Given the description of an element on the screen output the (x, y) to click on. 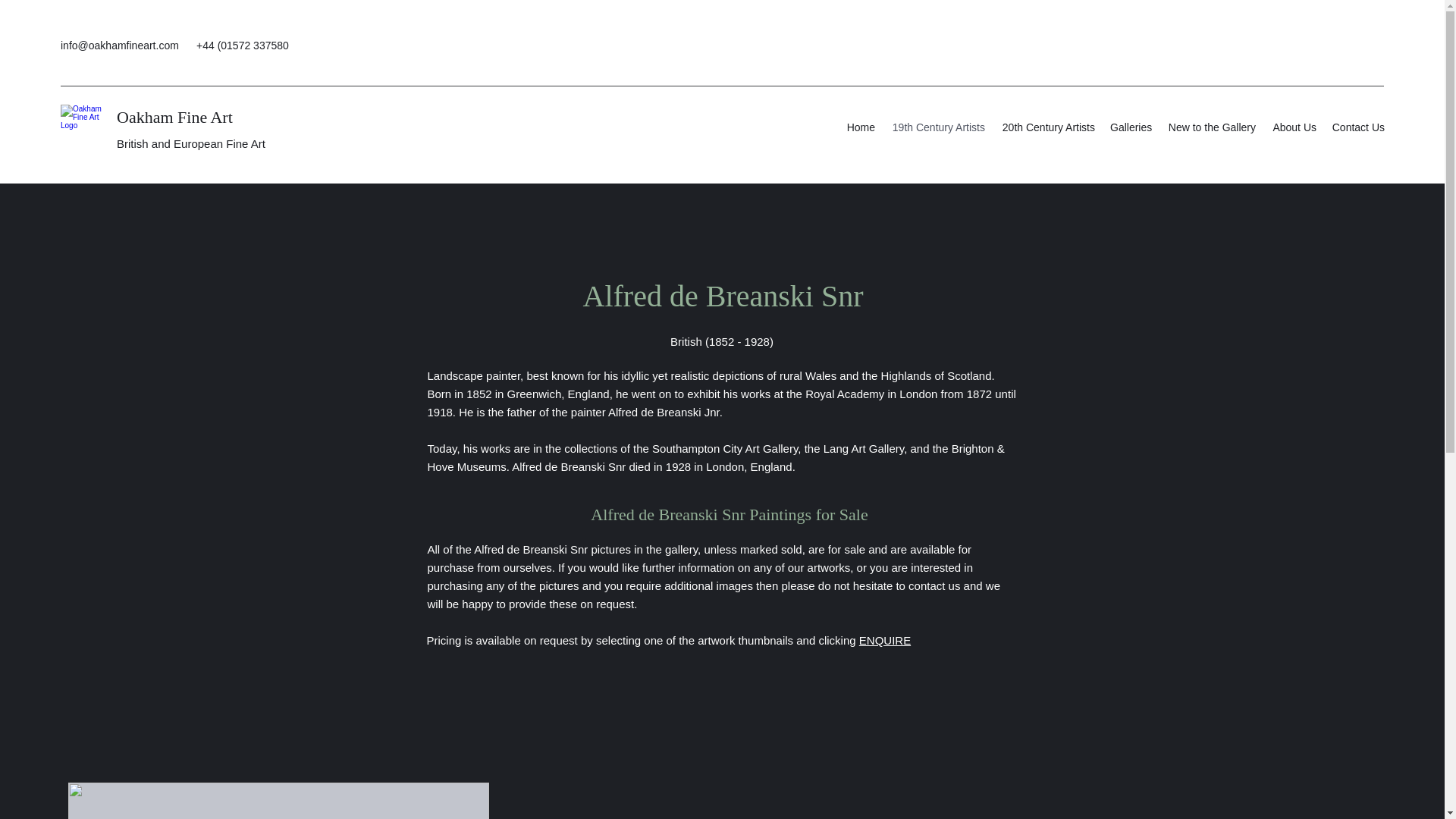
New to the Gallery (1210, 127)
19th Century Artists (937, 127)
Oakham Fine Art (174, 116)
20th Century Artists (1047, 127)
Galleries (1130, 127)
Home (860, 127)
